Given the description of an element on the screen output the (x, y) to click on. 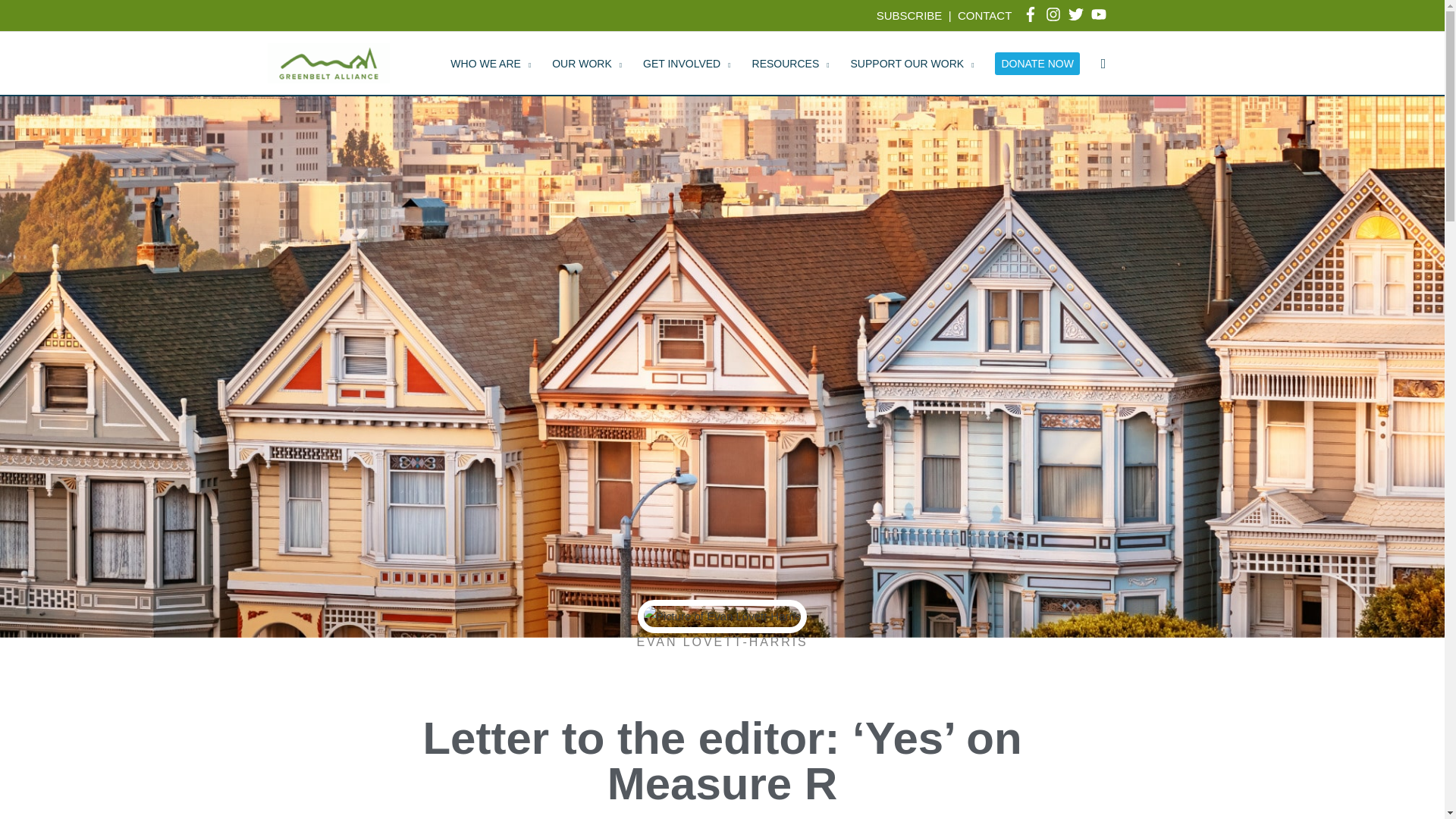
GET INVOLVED (686, 63)
CONTACT (984, 15)
OUR WORK (586, 63)
SUBSCRIBE (909, 15)
WHO WE ARE (490, 63)
